Given the description of an element on the screen output the (x, y) to click on. 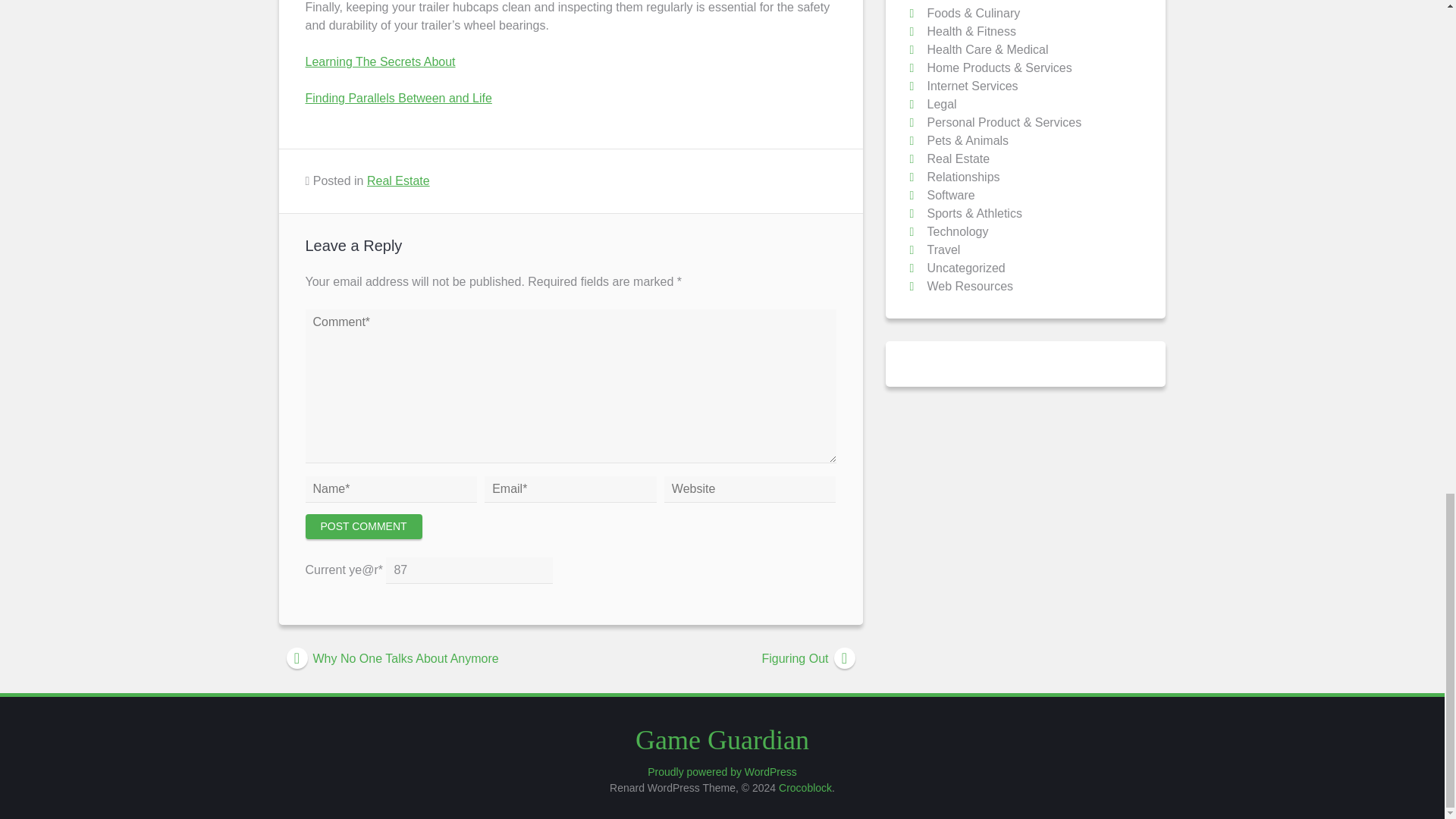
87 (469, 570)
Post Comment (363, 526)
Post Comment (363, 526)
Why No One Talks About Anymore (424, 658)
Real Estate (397, 180)
Finding Parallels Between and Life (398, 97)
Figuring Out (716, 658)
Learning The Secrets About (379, 61)
